Given the description of an element on the screen output the (x, y) to click on. 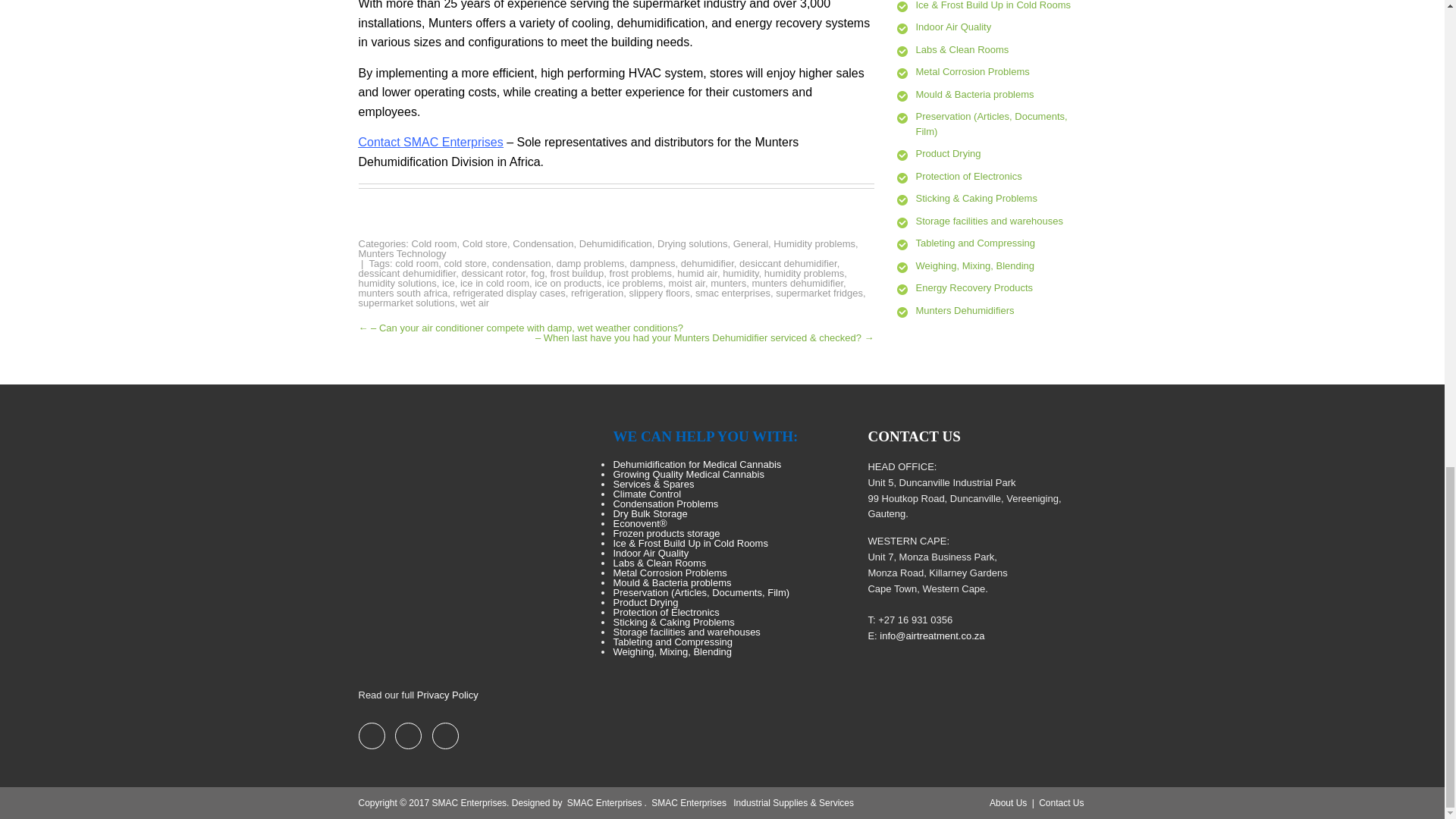
View all posts in Humidity problems (814, 243)
View all posts in Cold room (434, 243)
View all posts in Condensation (542, 243)
View all posts in Drying solutions (693, 243)
View all posts in Munters Technology (401, 253)
View all posts in Cold store (484, 243)
View all posts in Dehumidification (615, 243)
View all posts in General (750, 243)
